Given the description of an element on the screen output the (x, y) to click on. 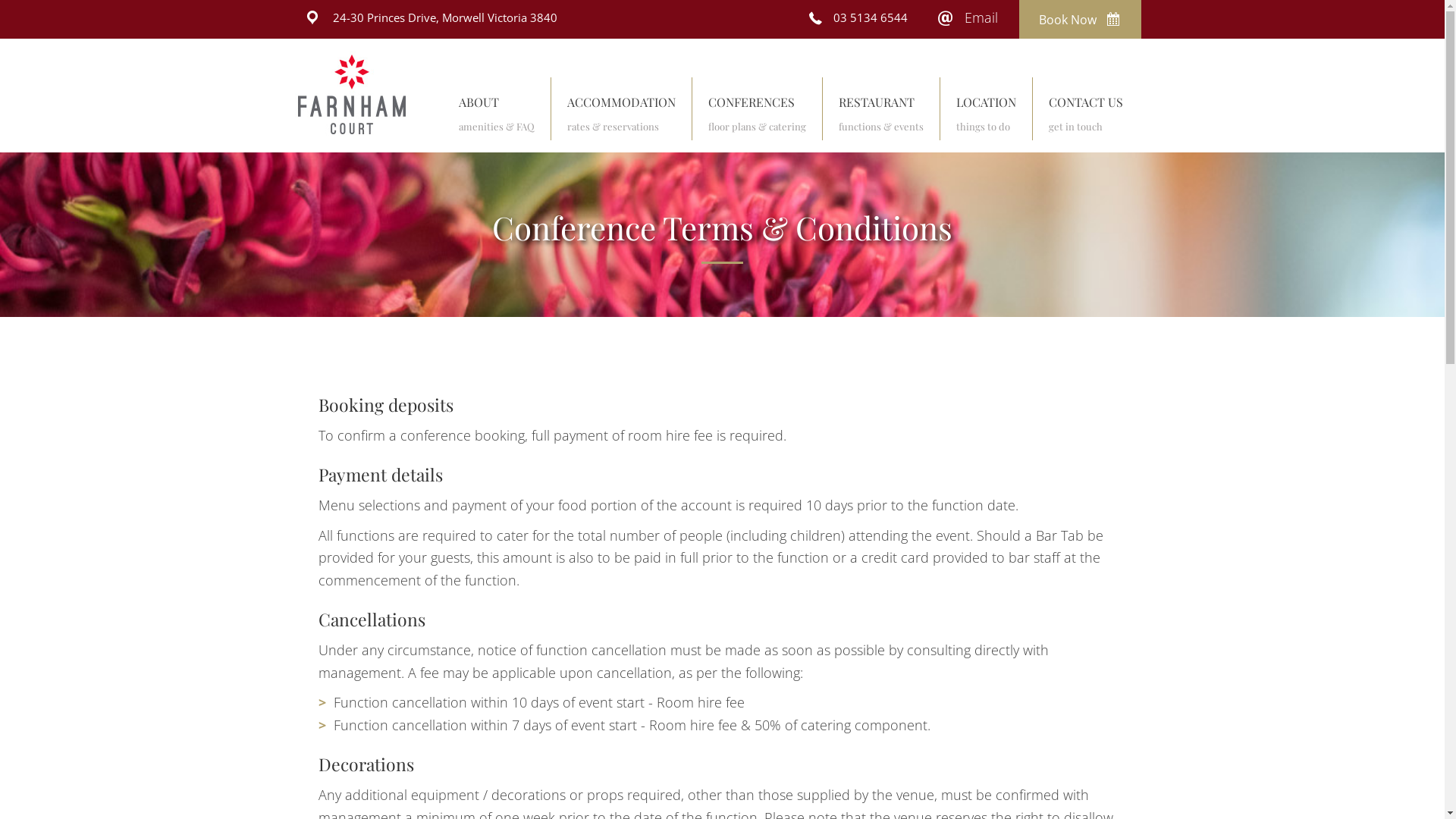
FarnhamCourt-logo-header7[1] Element type: hover (351, 95)
ACCOMMODATION
rates & reservations Element type: text (621, 115)
ABOUT
amenities & FAQ Element type: text (496, 115)
Email Element type: text (980, 17)
Book Now Element type: text (1080, 19)
LOCATION
things to do Element type: text (985, 115)
CONTACT US
get in touch Element type: text (1085, 115)
RESTAURANT
functions & events Element type: text (881, 115)
CONFERENCES
floor plans & catering Element type: text (756, 115)
03 5134 6544 Element type: text (870, 17)
